Given the description of an element on the screen output the (x, y) to click on. 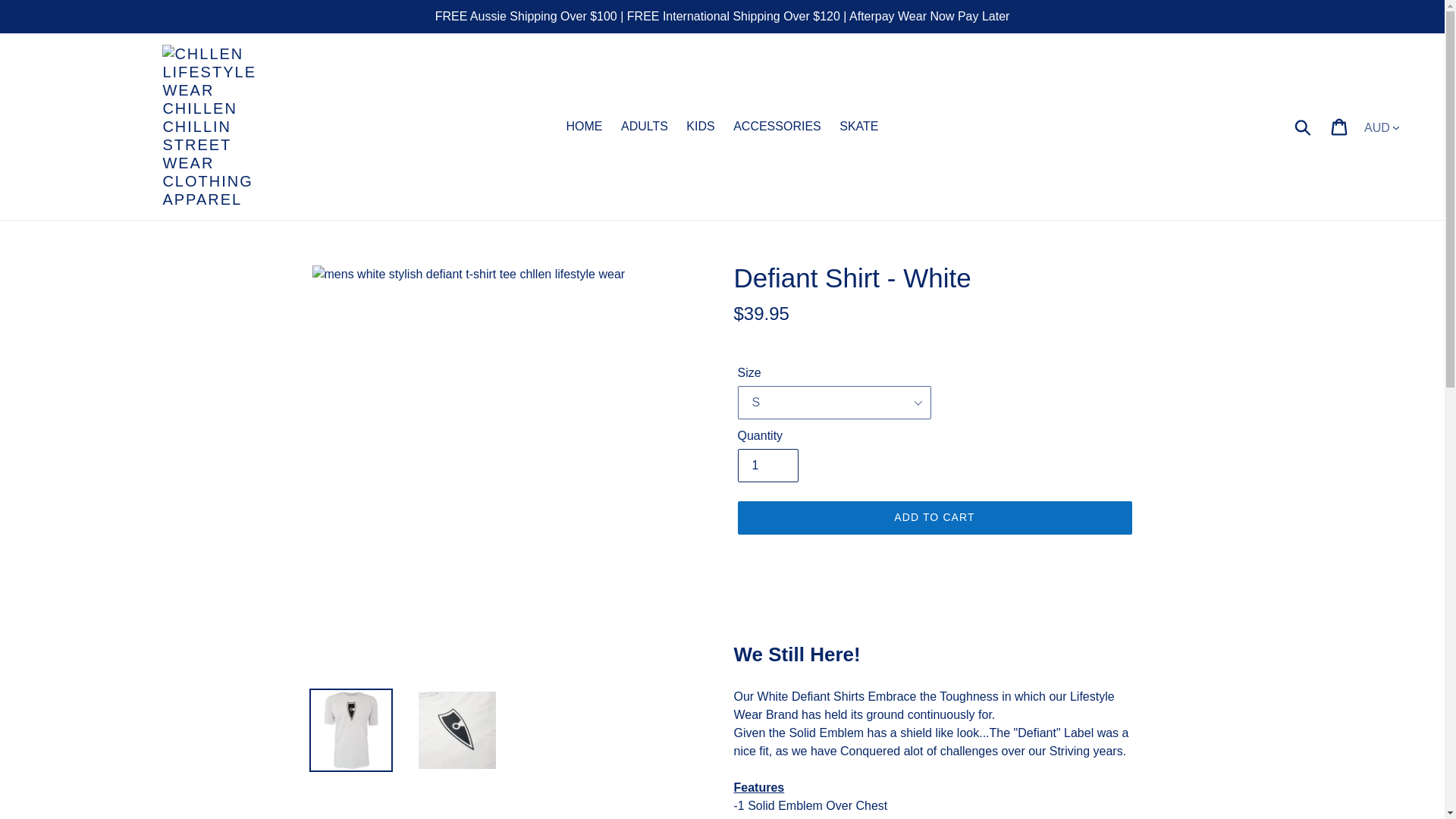
SKATE (858, 126)
ACCESSORIES (776, 126)
Cart (1340, 126)
1 (766, 465)
Submit (1303, 126)
HOME (584, 126)
ADULTS (643, 126)
KIDS (700, 126)
